Given the description of an element on the screen output the (x, y) to click on. 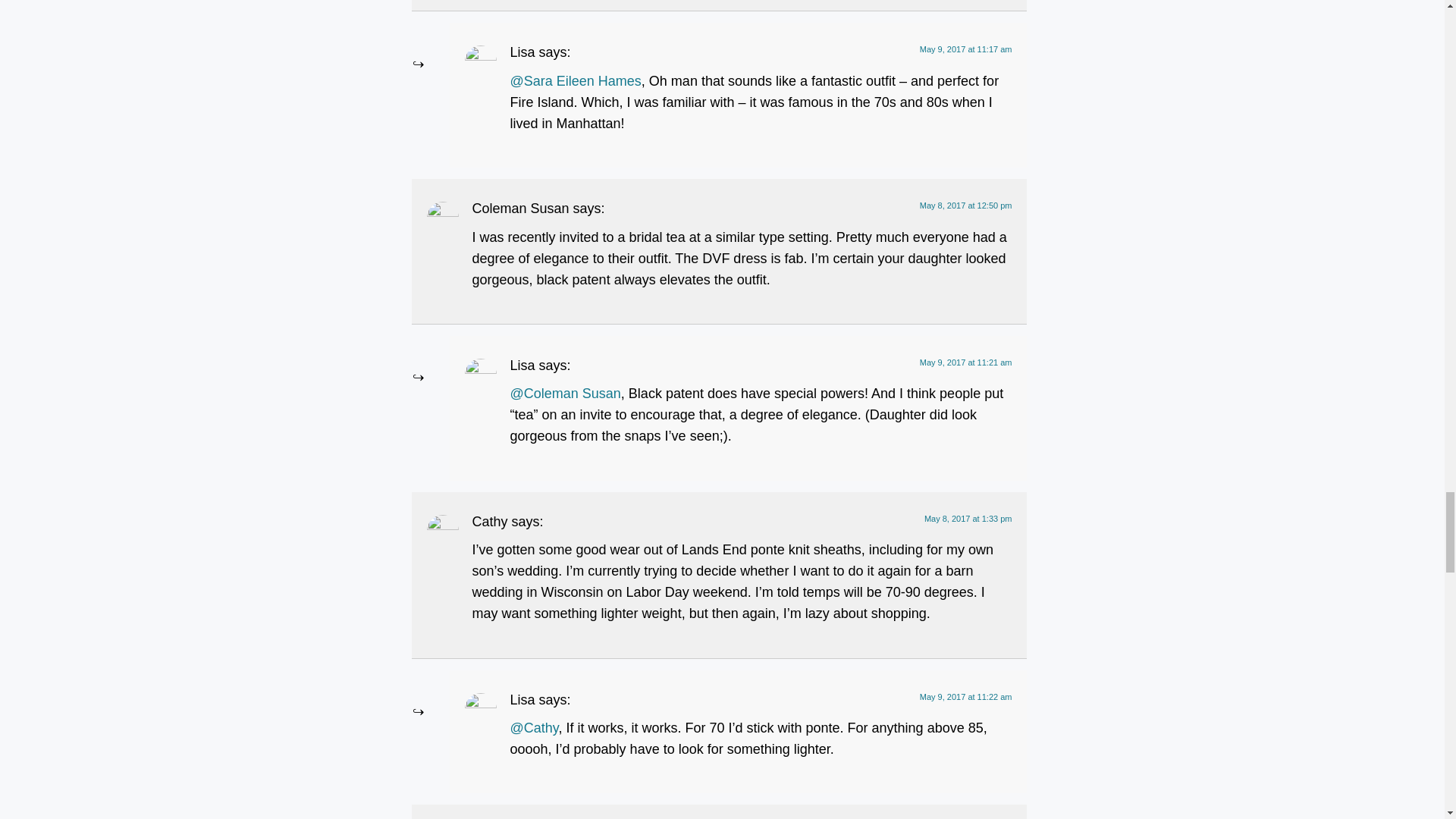
May 9, 2017 at 11:17 am (965, 49)
May 8, 2017 at 12:50 pm (965, 204)
May 9, 2017 at 11:22 am (965, 696)
May 8, 2017 at 1:33 pm (967, 518)
May 9, 2017 at 11:21 am (965, 361)
